Given the description of an element on the screen output the (x, y) to click on. 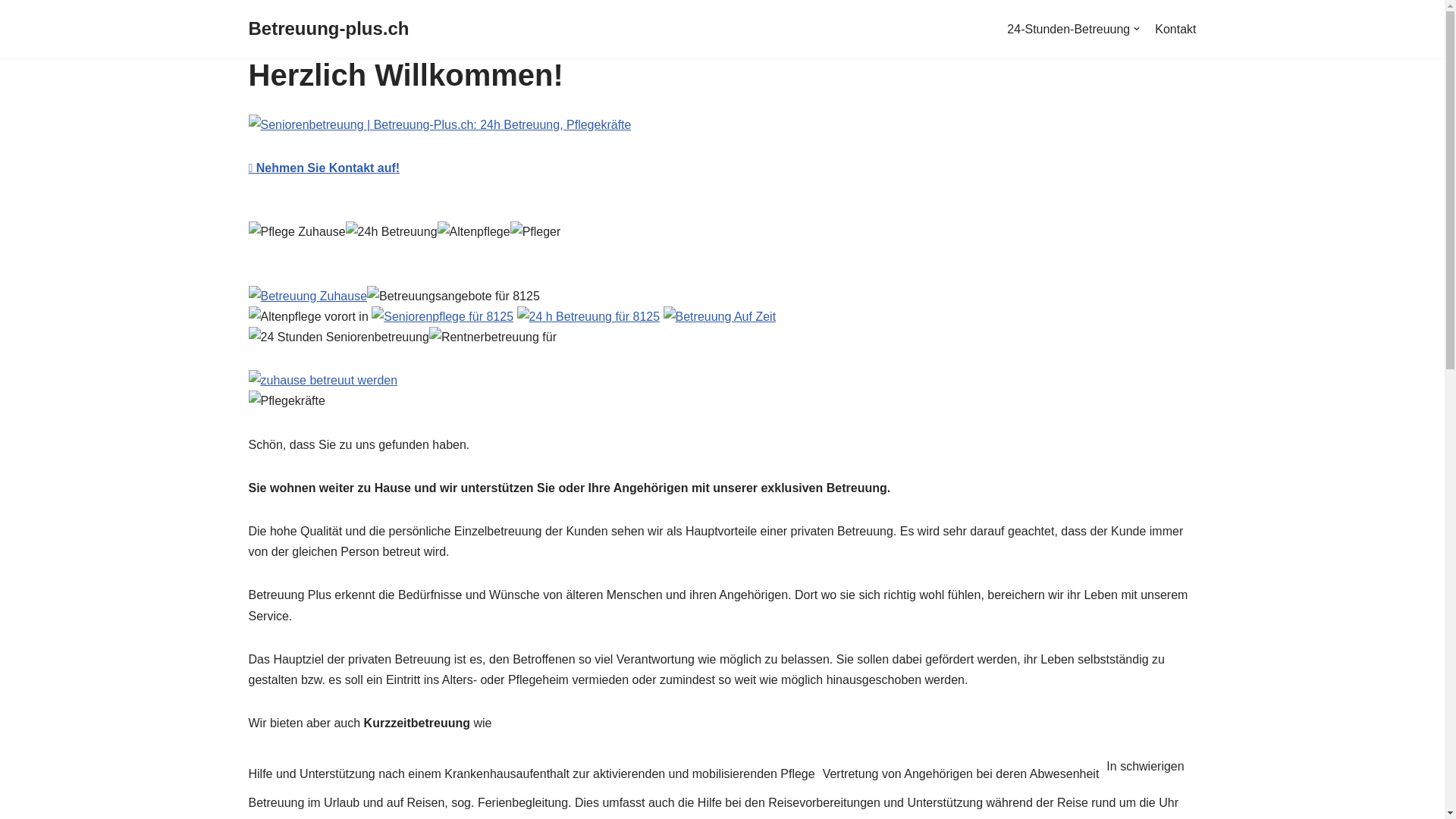
Betreuung-plus.ch Element type: text (328, 28)
24-Stunden-Betreuung Element type: text (1073, 29)
Kontakt Element type: text (1174, 29)
Zum Inhalt springen Element type: text (11, 31)
